Given the description of an element on the screen output the (x, y) to click on. 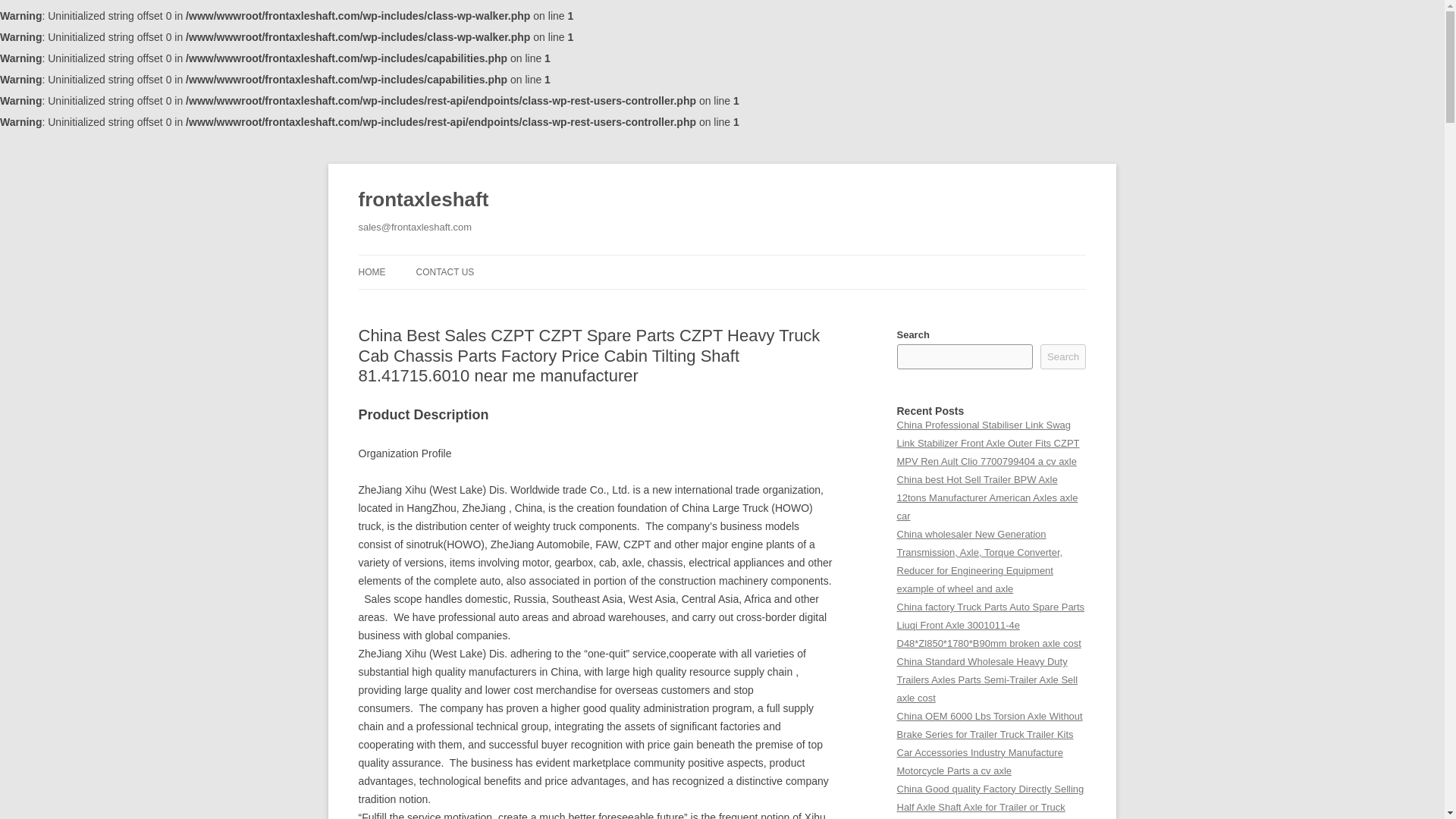
CONTACT US (444, 272)
Search (1063, 356)
frontaxleshaft (422, 199)
frontaxleshaft (422, 199)
